Given the description of an element on the screen output the (x, y) to click on. 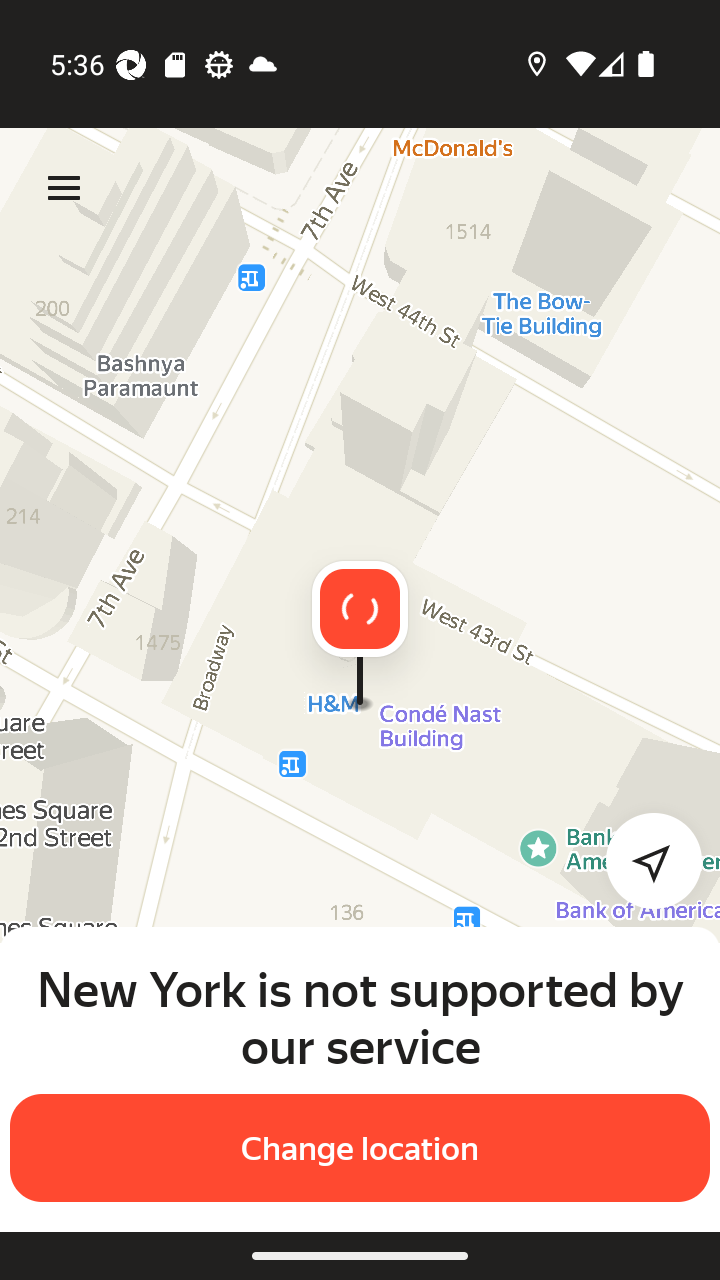
Menu Menu Menu (64, 188)
Detect my location (641, 860)
New York is not supported by our service (360, 1017)
Change location (359, 1147)
